Given the description of an element on the screen output the (x, y) to click on. 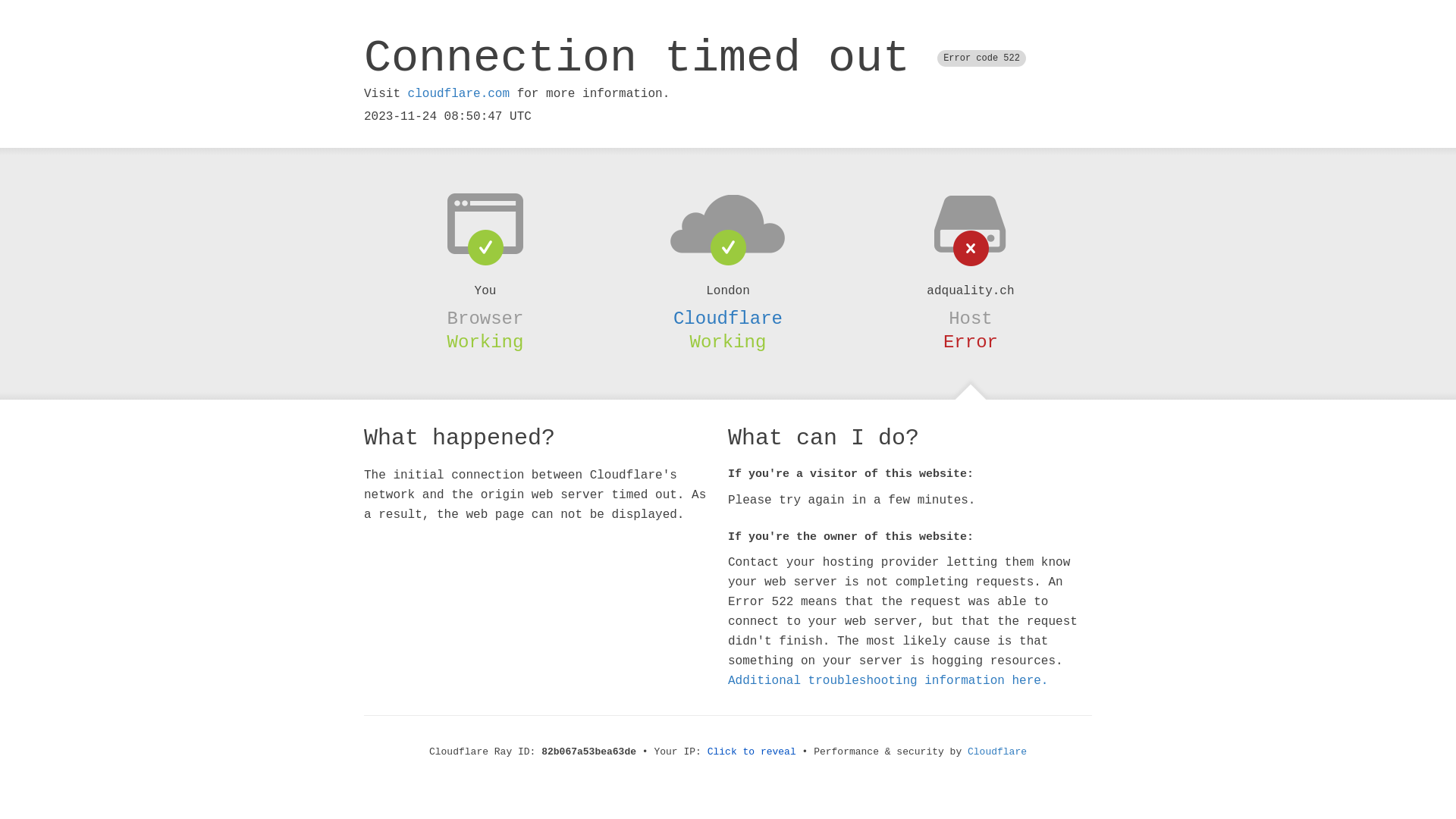
Cloudflare Element type: text (727, 318)
Additional troubleshooting information here. Element type: text (888, 680)
Click to reveal Element type: text (751, 751)
Cloudflare Element type: text (996, 751)
cloudflare.com Element type: text (458, 93)
